Given the description of an element on the screen output the (x, y) to click on. 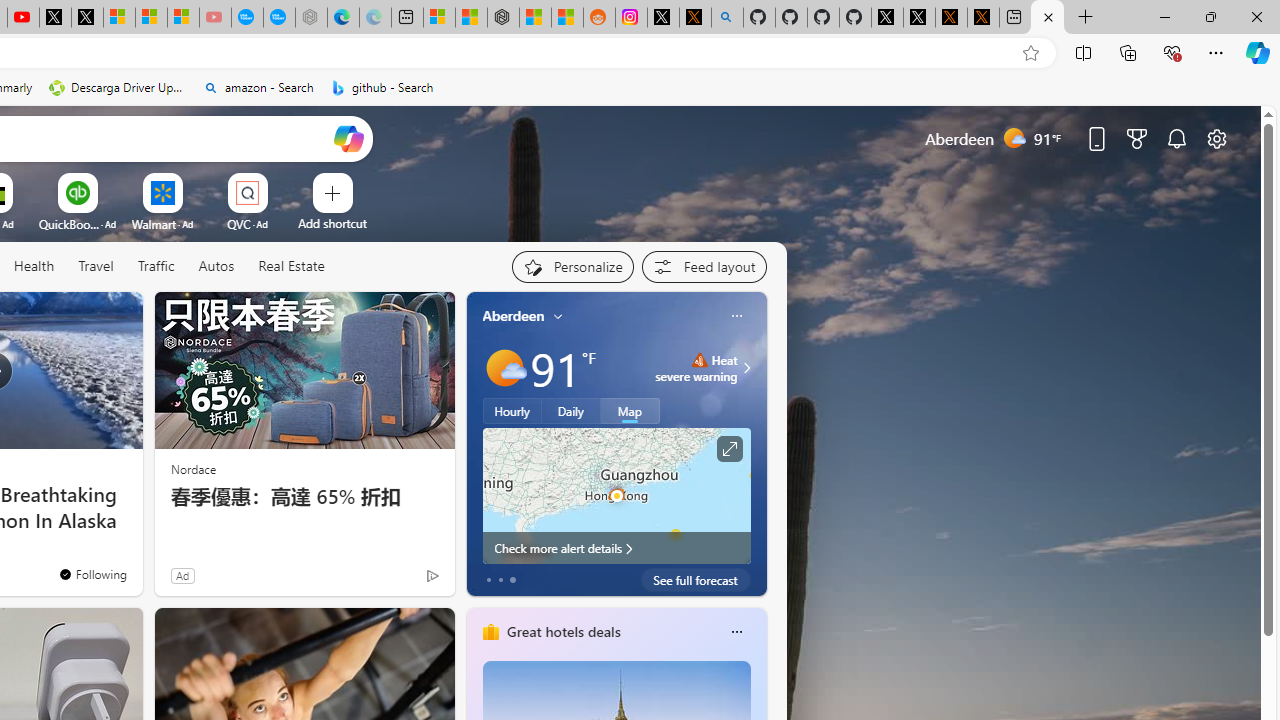
Traffic (155, 267)
Class: weather-arrow-glyph (746, 367)
tab-0 (488, 579)
Add a site (332, 223)
Nordace - Duffels (502, 17)
Shanghai, China Weather trends | Microsoft Weather (566, 17)
Microsoft account | Microsoft Account Privacy Settings (438, 17)
